Given the description of an element on the screen output the (x, y) to click on. 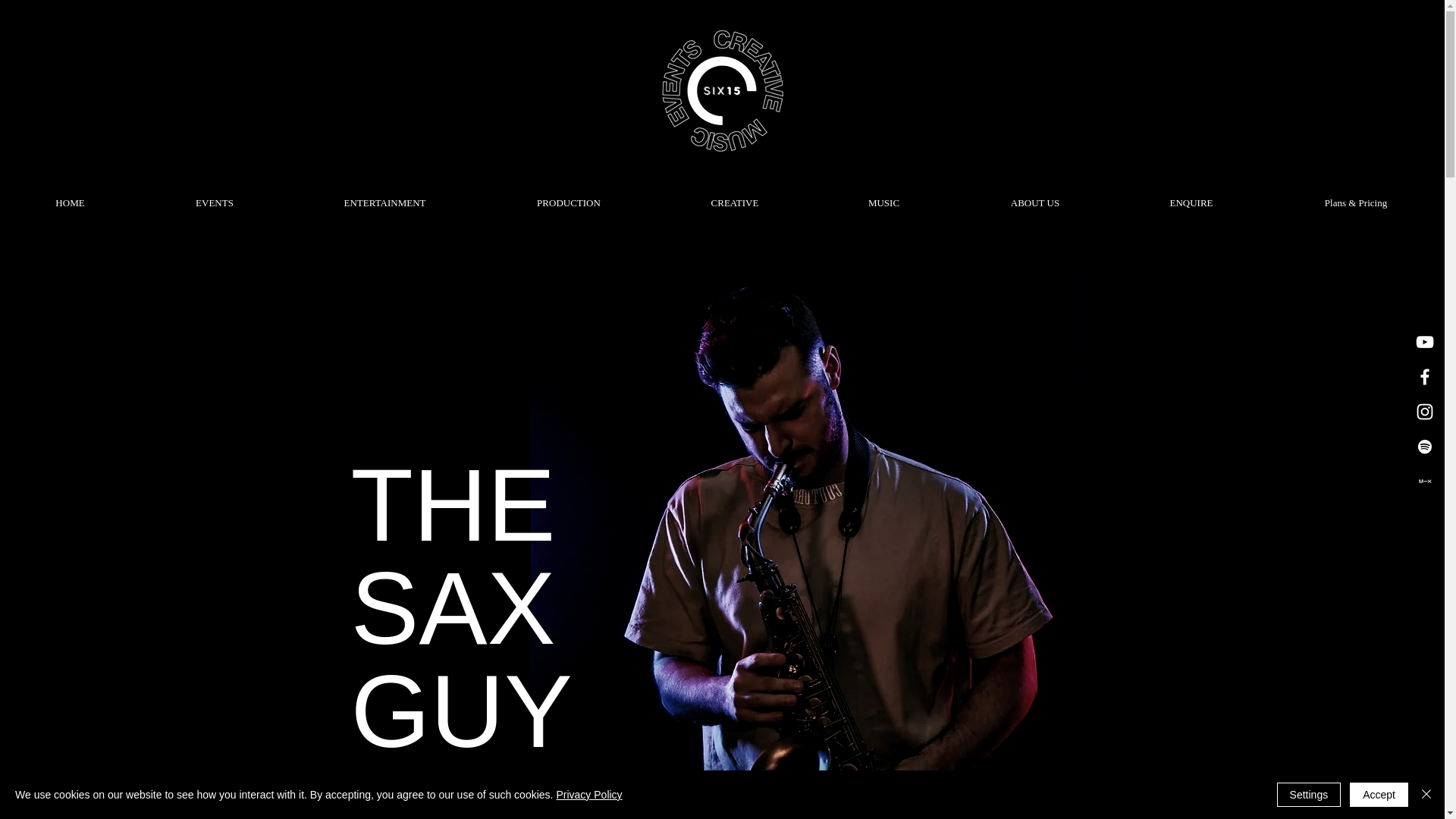
ENTERTAINMENT (384, 195)
ABOUT US (1035, 195)
EVENTS (213, 195)
PRODUCTION (568, 195)
CREATIVE (734, 195)
HOME (69, 195)
MUSIC (883, 195)
ENQUIRE (1190, 195)
